Given the description of an element on the screen output the (x, y) to click on. 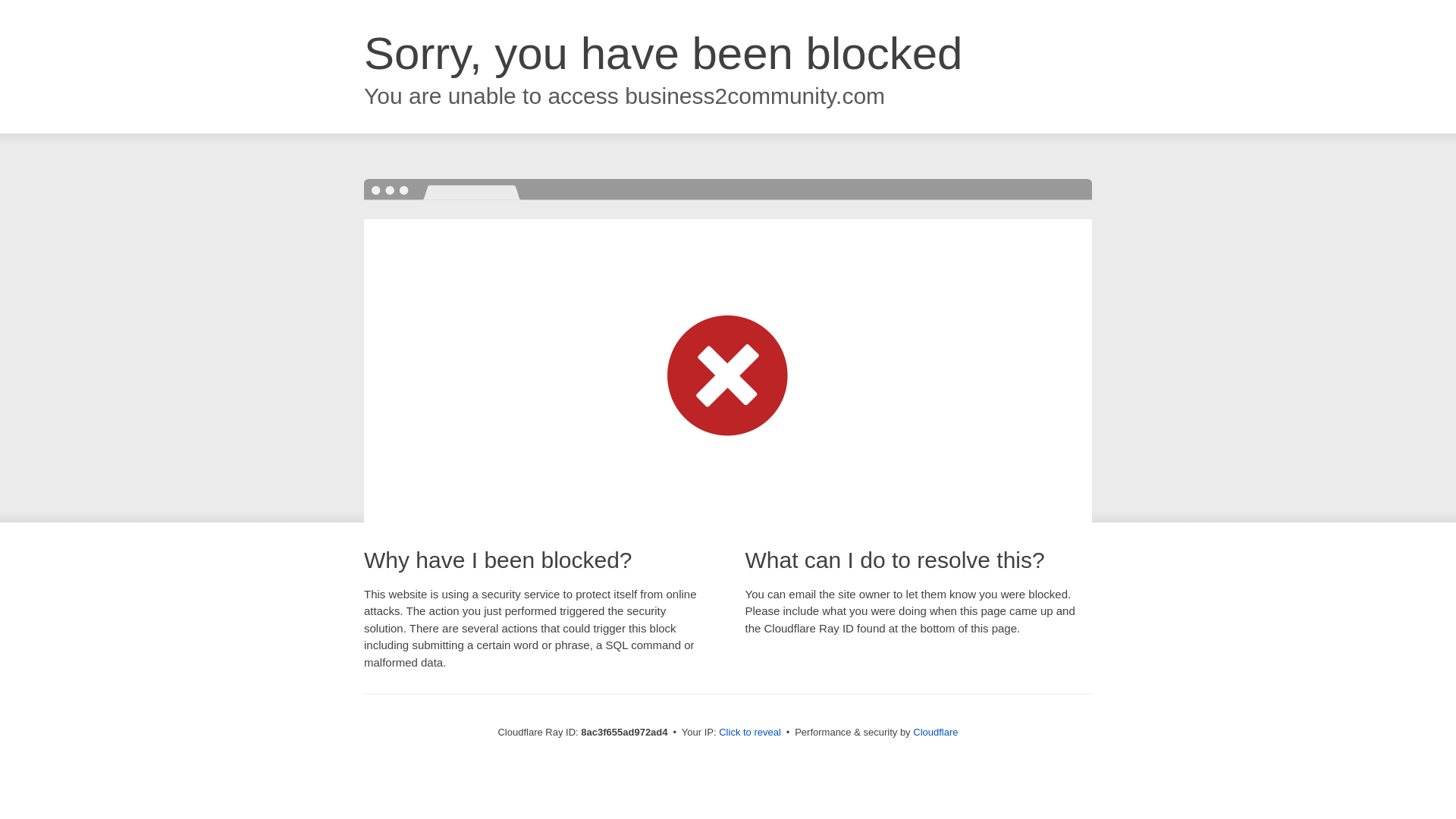
Cloudflare (935, 731)
Click to reveal (749, 732)
